Given the description of an element on the screen output the (x, y) to click on. 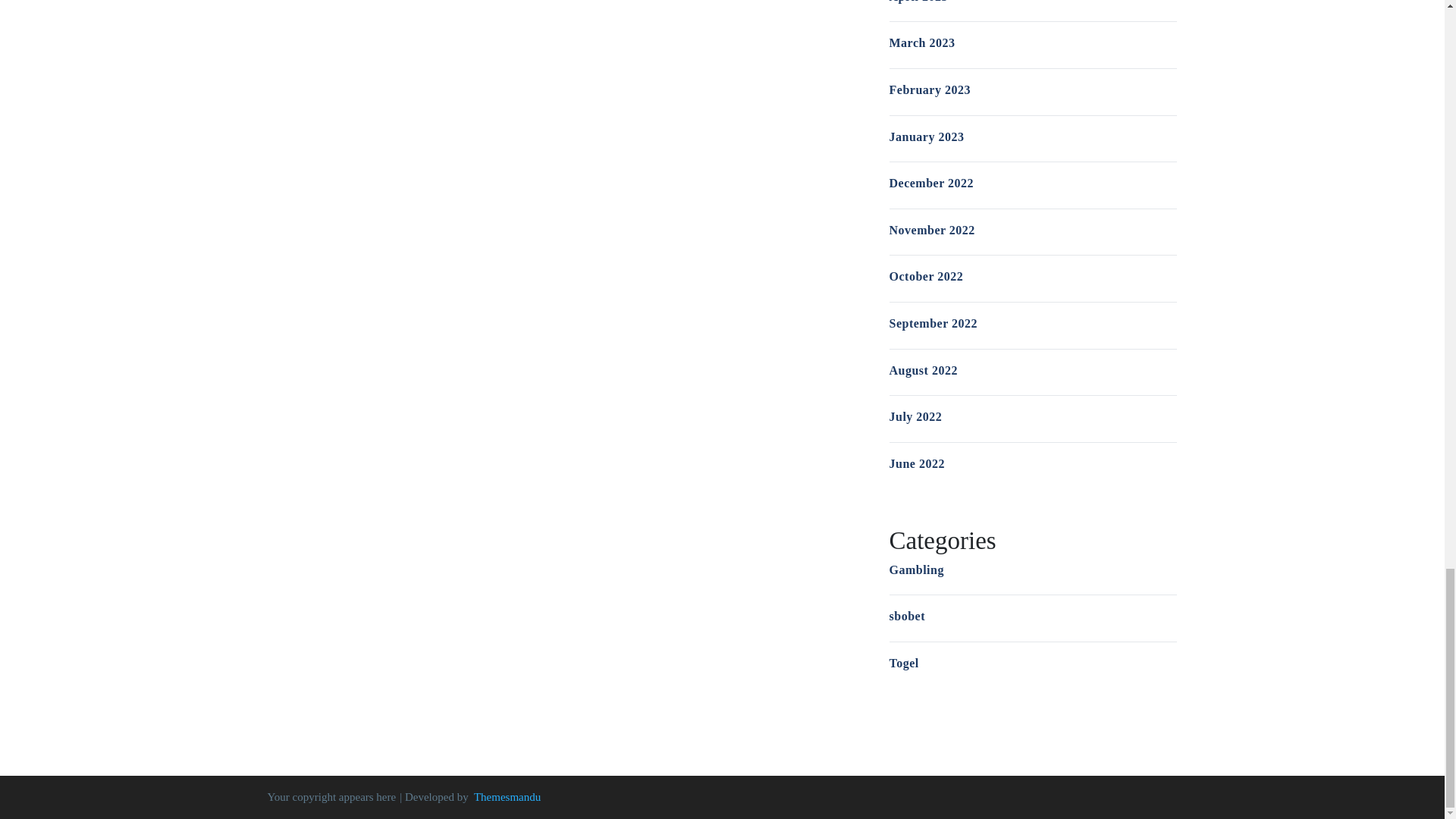
March 2023 (921, 42)
January 2023 (925, 136)
December 2022 (931, 182)
April 2023 (917, 1)
October 2022 (925, 276)
February 2023 (928, 89)
September 2022 (932, 323)
November 2022 (931, 229)
